Given the description of an element on the screen output the (x, y) to click on. 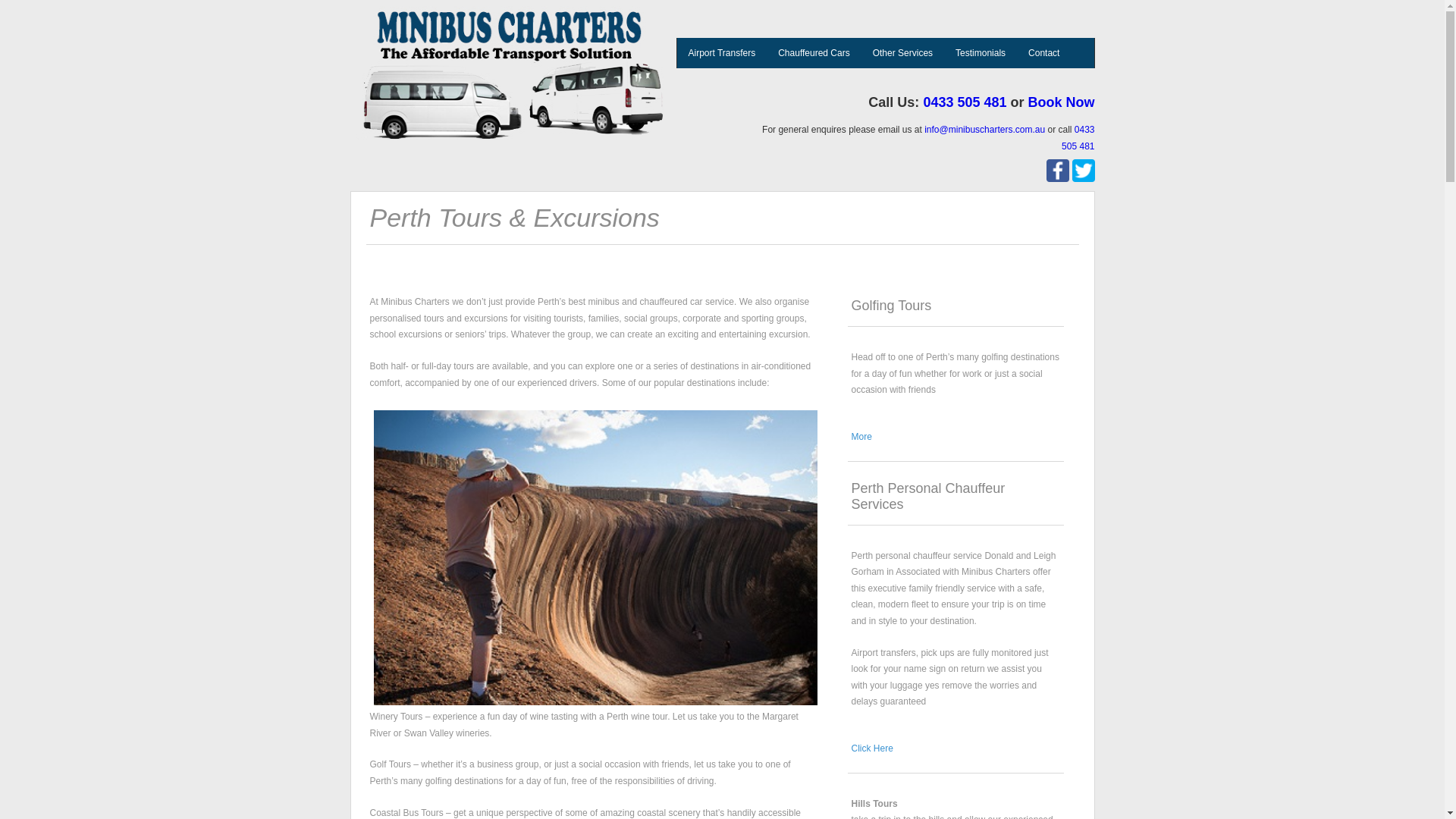
Contact Element type: text (1044, 52)
info@minibuscharters.com.au Element type: text (984, 129)
Other Services Element type: text (904, 52)
More Element type: text (860, 436)
0433 505 481 Element type: text (964, 101)
0433 505 481 Element type: text (1077, 137)
Airport Transfers Element type: text (721, 52)
Testimonials Element type: text (981, 52)
Chauffeured Cars Element type: text (815, 52)
Book Now Element type: text (1061, 101)
Click Here Element type: text (871, 748)
